Given the description of an element on the screen output the (x, y) to click on. 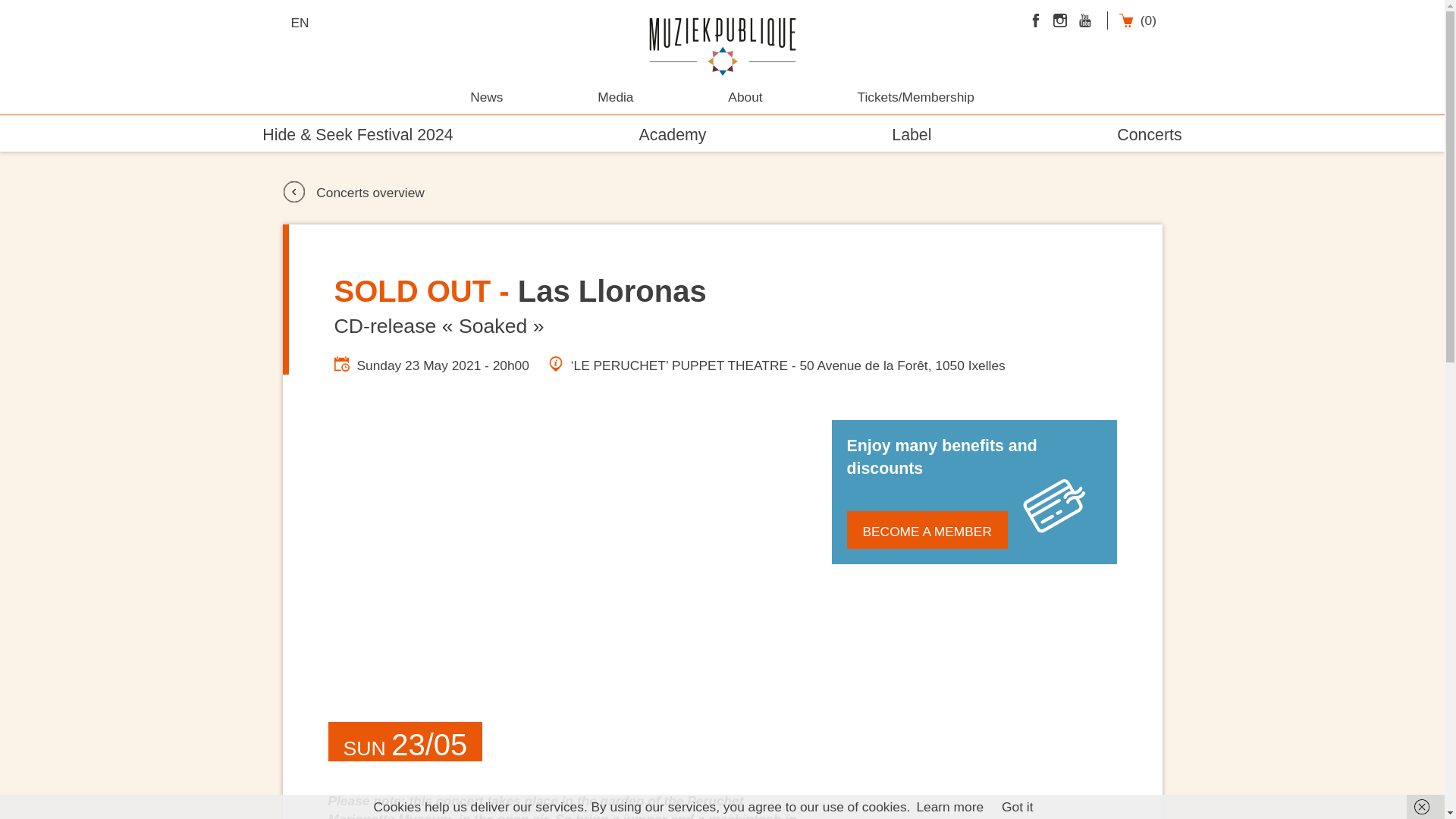
Media (614, 96)
About (744, 96)
EN (303, 22)
Label (911, 135)
Academy (672, 135)
News (486, 96)
